Given the description of an element on the screen output the (x, y) to click on. 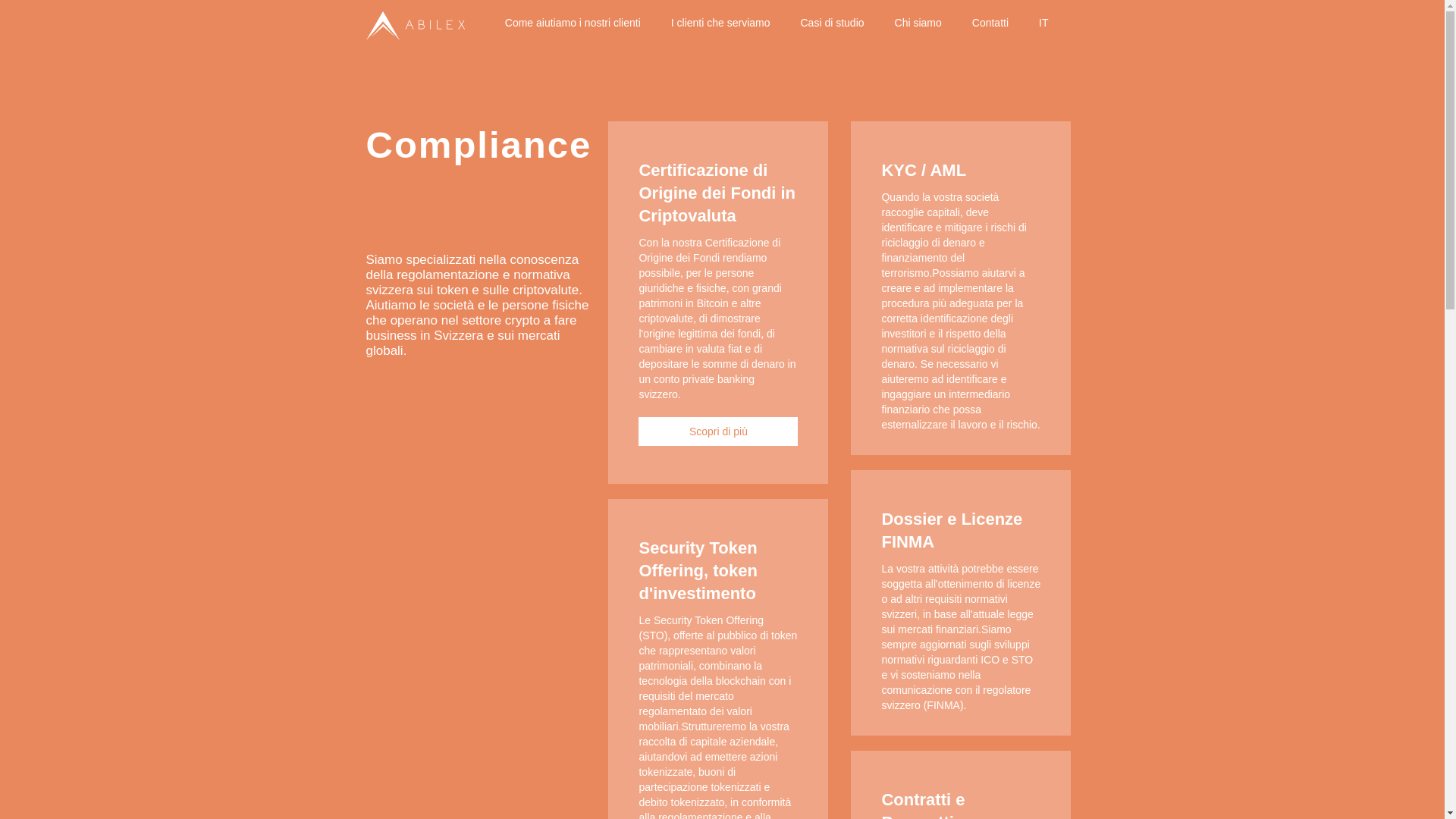
Casi di studio Element type: text (832, 22)
Contatti Element type: text (990, 22)
I clienti che serviamo Element type: text (720, 22)
Chi siamo Element type: text (918, 22)
Come aiutiamo i nostri clienti Element type: text (572, 22)
IT Element type: text (1043, 22)
